Given the description of an element on the screen output the (x, y) to click on. 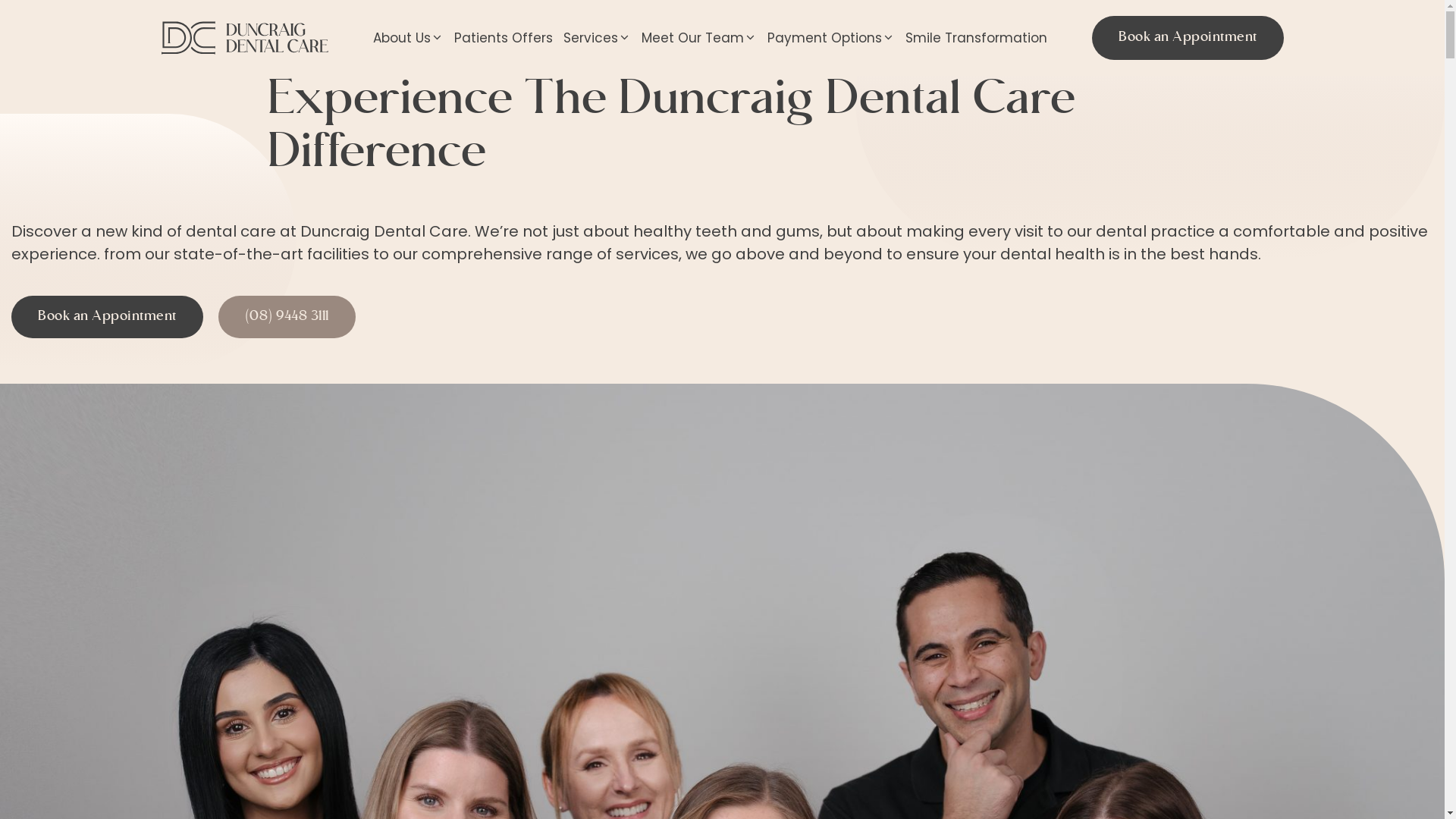
Book an Appointment Element type: text (107, 316)
(08) 9448 3111 Element type: text (286, 316)
Payment Options Element type: text (831, 37)
Services Element type: text (597, 37)
About Us Element type: text (407, 37)
Smile Transformation Element type: text (976, 37)
Meet Our Team Element type: text (699, 37)
Patients Offers Element type: text (503, 37)
Book an Appointment Element type: text (1187, 37)
